Given the description of an element on the screen output the (x, y) to click on. 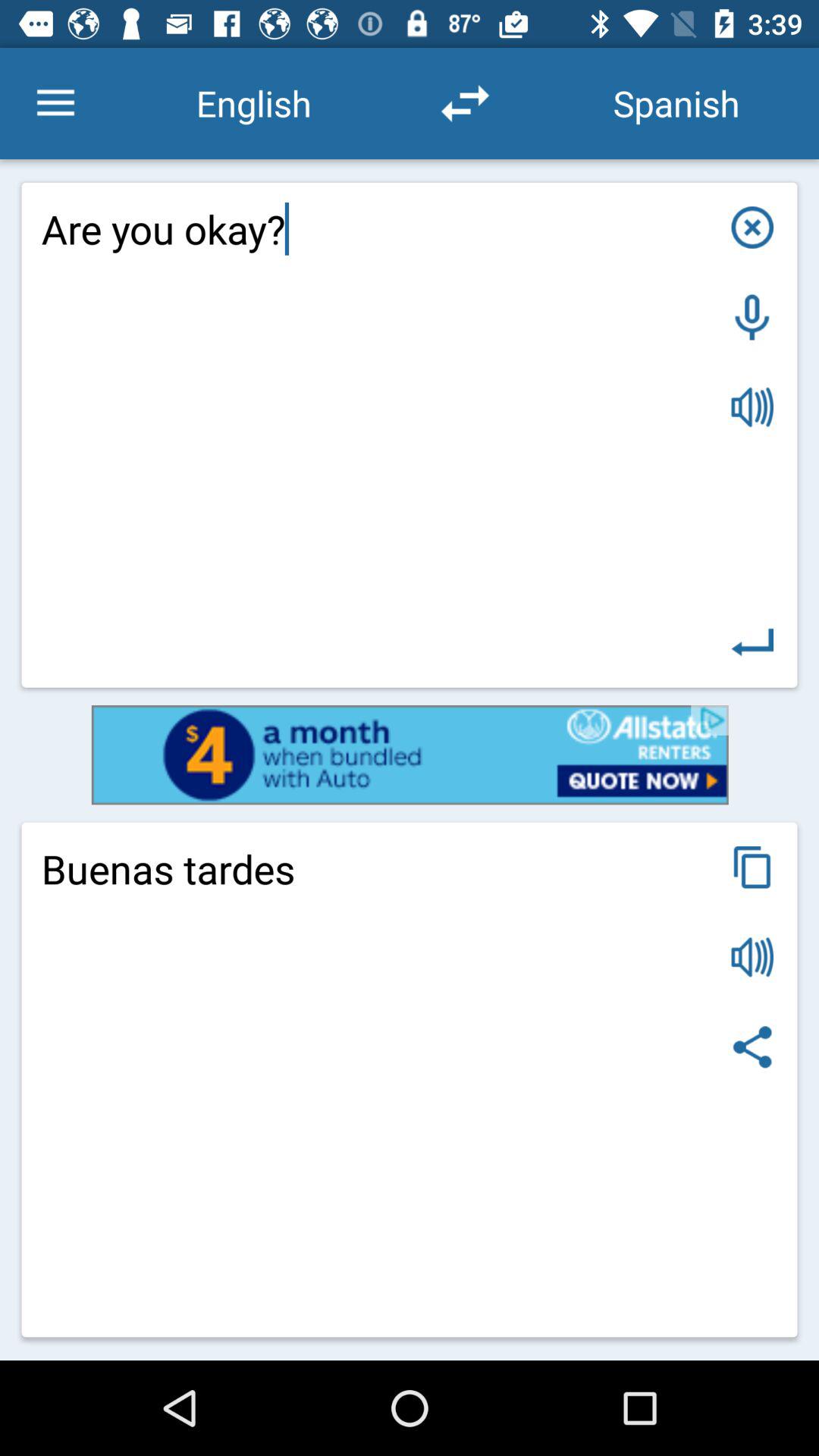
click to close (752, 227)
